Given the description of an element on the screen output the (x, y) to click on. 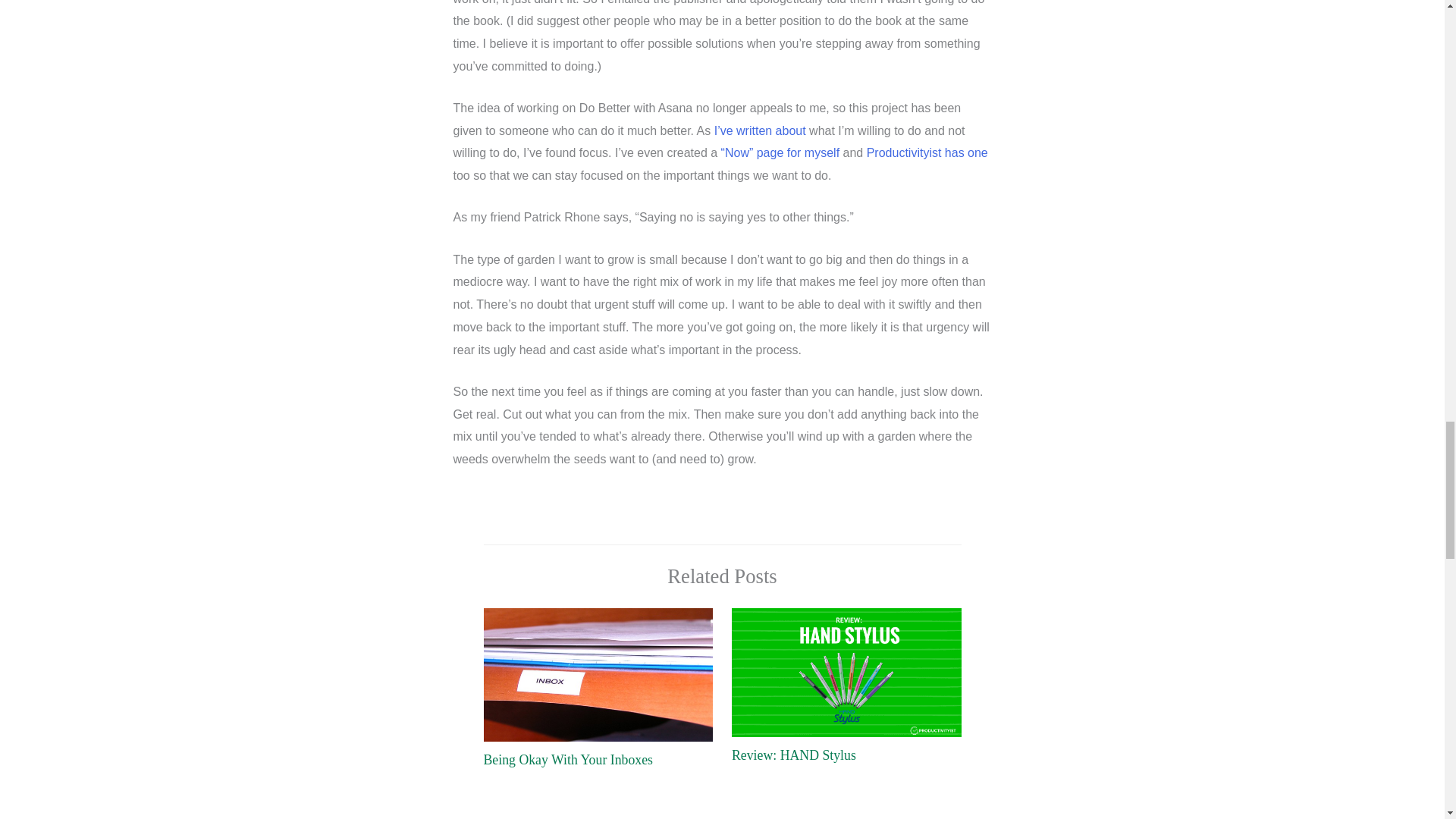
Being Okay With Your Inboxes (568, 759)
Review: HAND Stylus (794, 754)
Productivityist has one (927, 152)
